Given the description of an element on the screen output the (x, y) to click on. 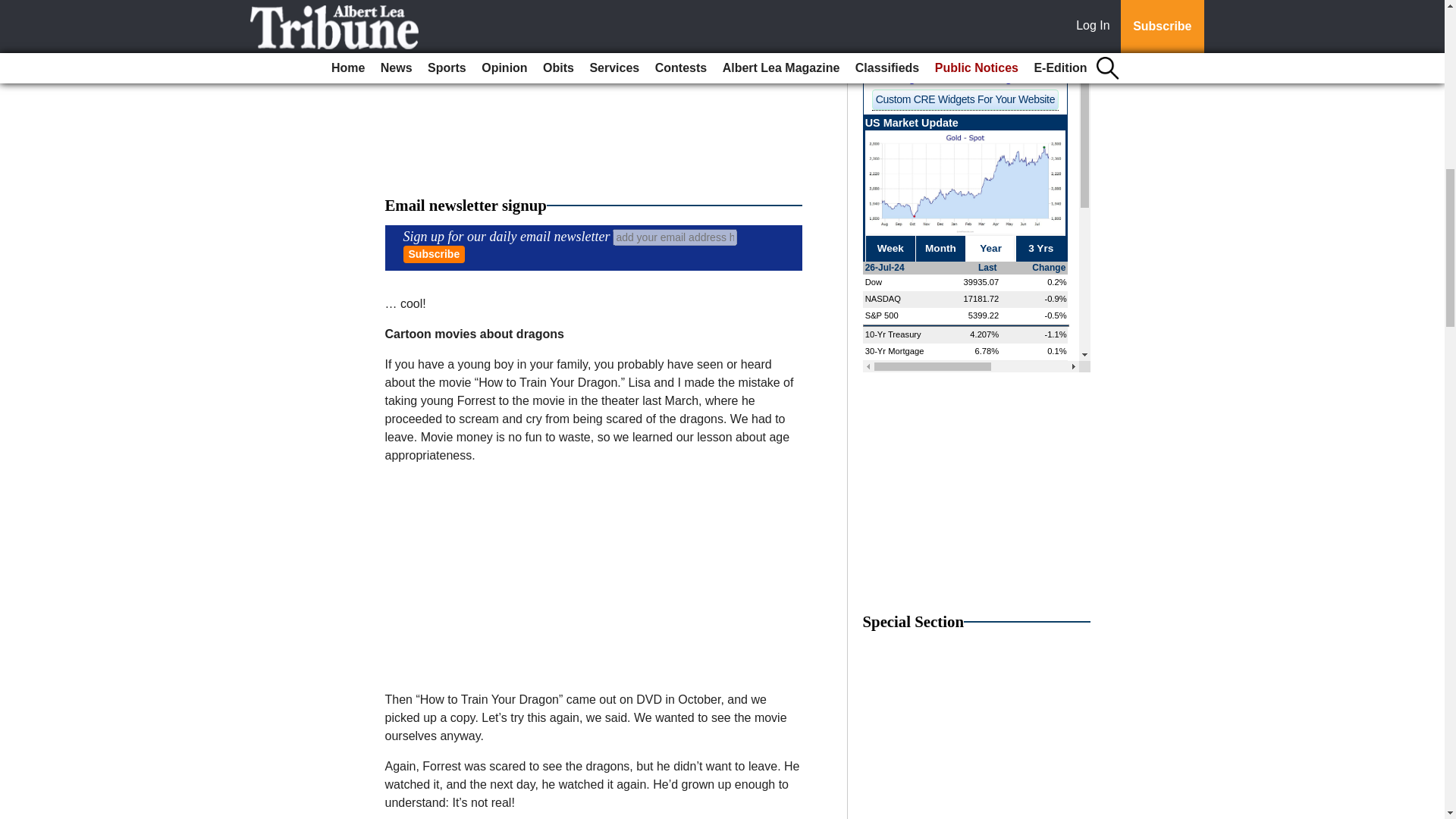
Subscribe (434, 253)
